Given the description of an element on the screen output the (x, y) to click on. 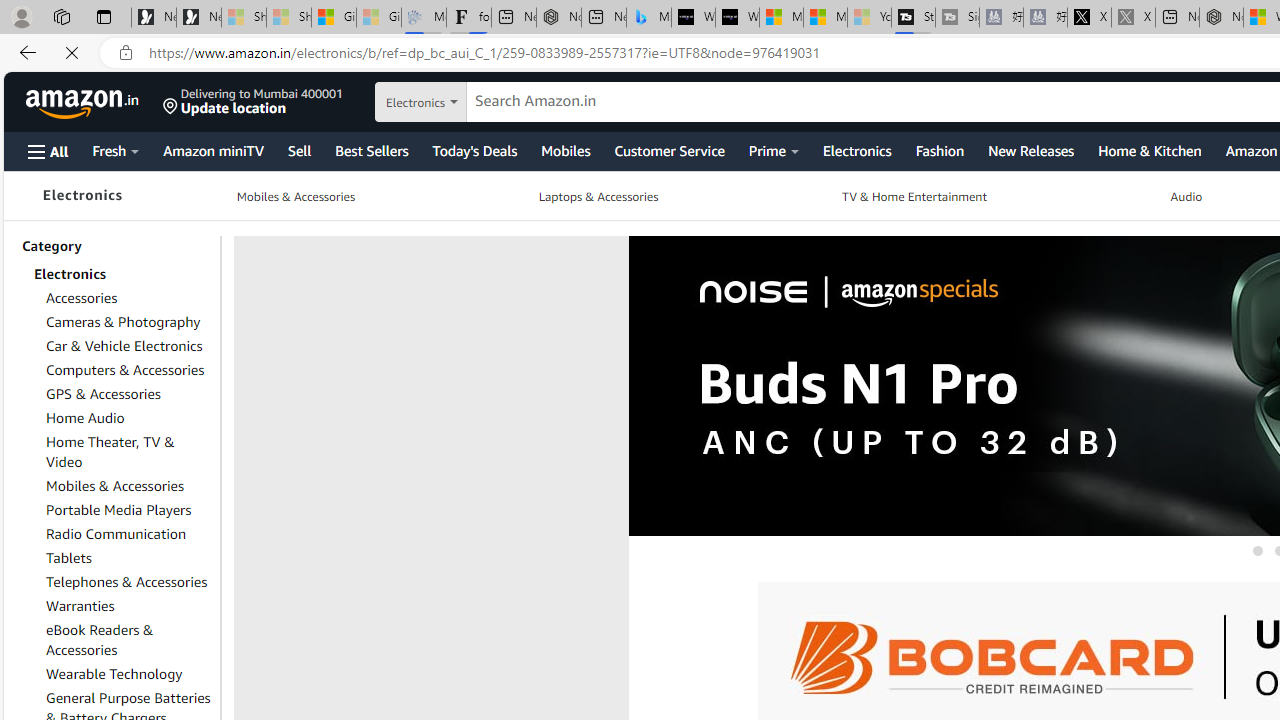
Open Menu (47, 151)
Microsoft Bing Travel - Shangri-La Hotel Bangkok (648, 17)
Sell (298, 150)
Delivering to Mumbai 400001 Update location (253, 101)
Nordace - #1 Japanese Best-Seller - Siena Smart Backpack (558, 17)
Prime (773, 150)
Nordace - My Account (1220, 17)
Today's Deals (473, 150)
Electronics (81, 196)
What's the best AI voice generator? - voice.ai (737, 17)
